Given the description of an element on the screen output the (x, y) to click on. 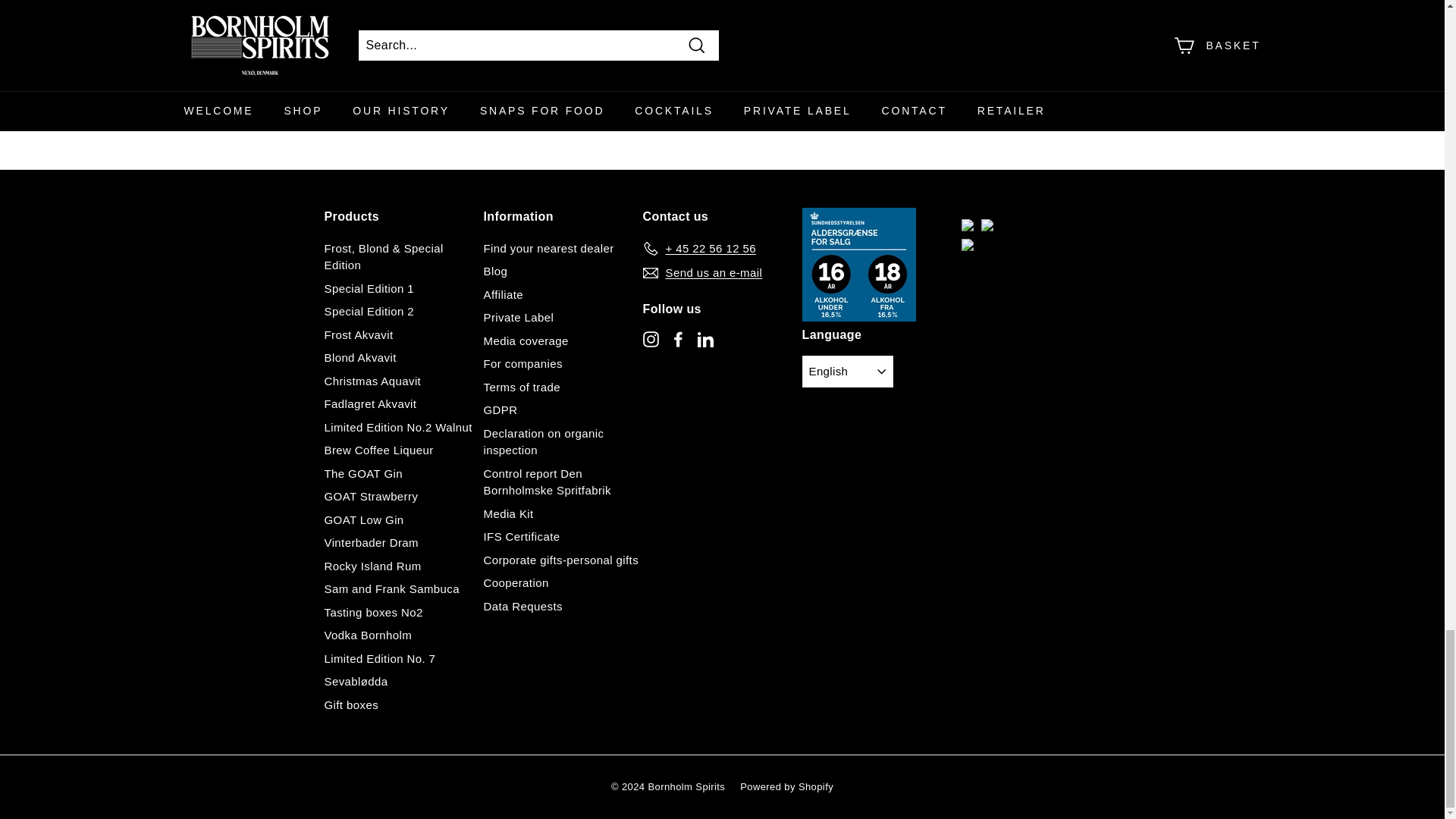
Bornholm Spirits on LinkedIn (705, 338)
Bornholm Spirits on Facebook (677, 338)
Bornholm Spirits on Instagram (651, 338)
